Given the description of an element on the screen output the (x, y) to click on. 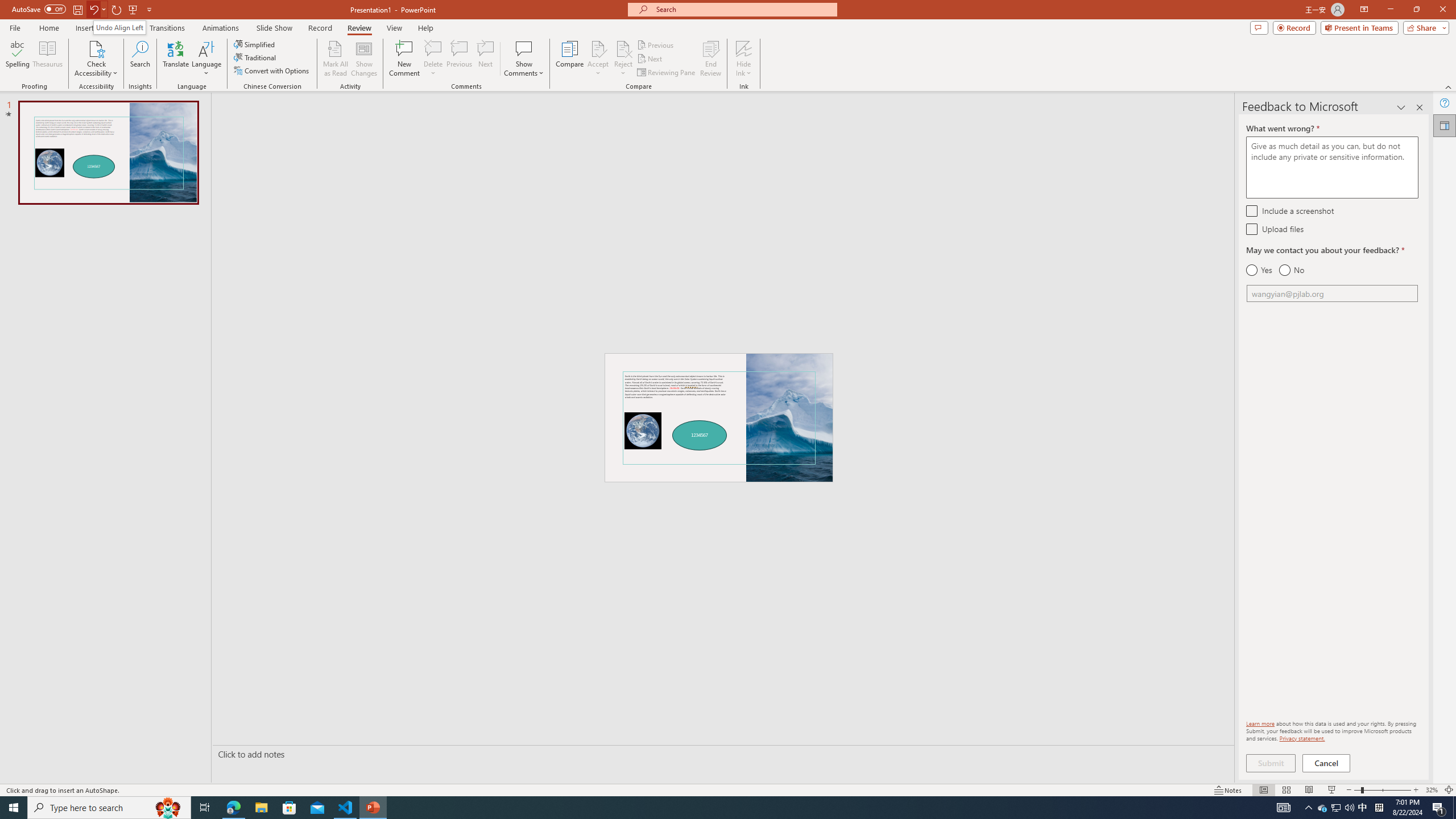
Feedback to Microsoft (1444, 125)
Zoom 32% (1431, 790)
Check Accessibility (95, 48)
Reject Change (622, 48)
Reviewing Pane (666, 72)
Next (649, 58)
Spelling... (17, 58)
New Comment (403, 58)
Thesaurus... (47, 58)
